Given the description of an element on the screen output the (x, y) to click on. 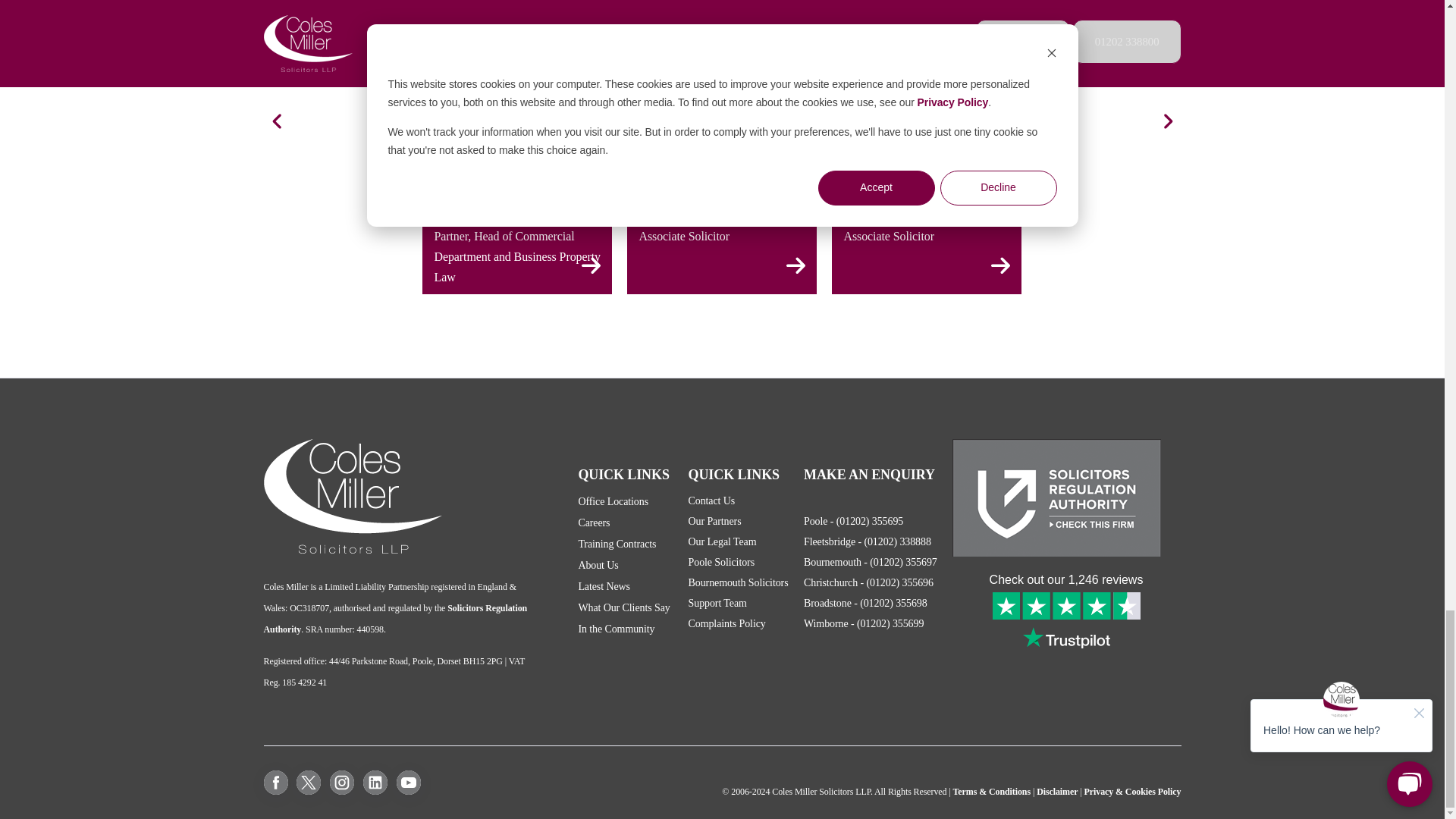
white text - transparent (352, 495)
Customer reviews powered by Trustpilot (1065, 611)
